Given the description of an element on the screen output the (x, y) to click on. 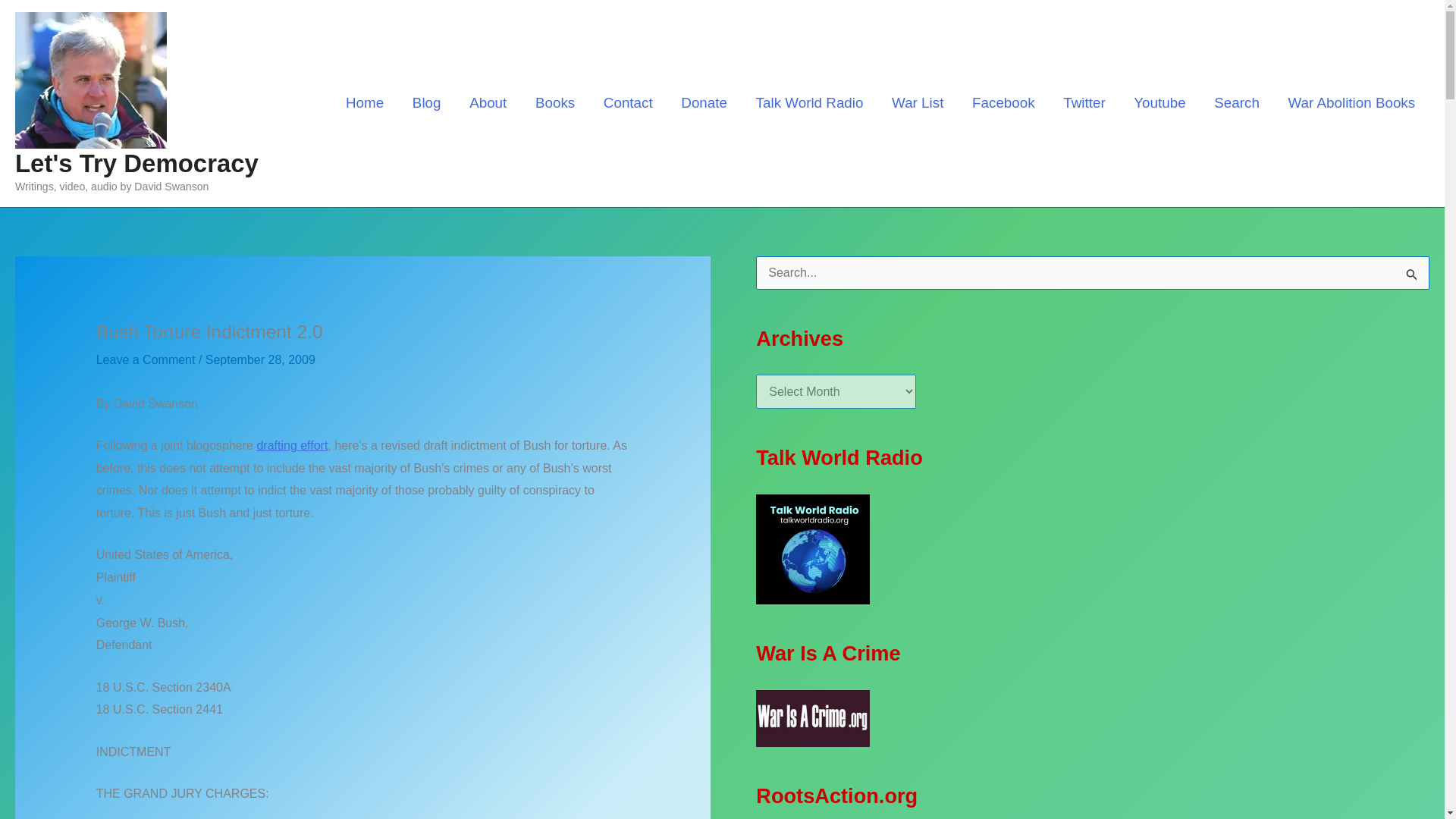
Contact (627, 102)
drafting effort (291, 445)
Donate (703, 102)
Talk World Radio (809, 102)
Books (555, 102)
About (487, 102)
Leave a Comment (145, 359)
Facebook (1003, 102)
Youtube (1159, 102)
Search (1235, 102)
